Given the description of an element on the screen output the (x, y) to click on. 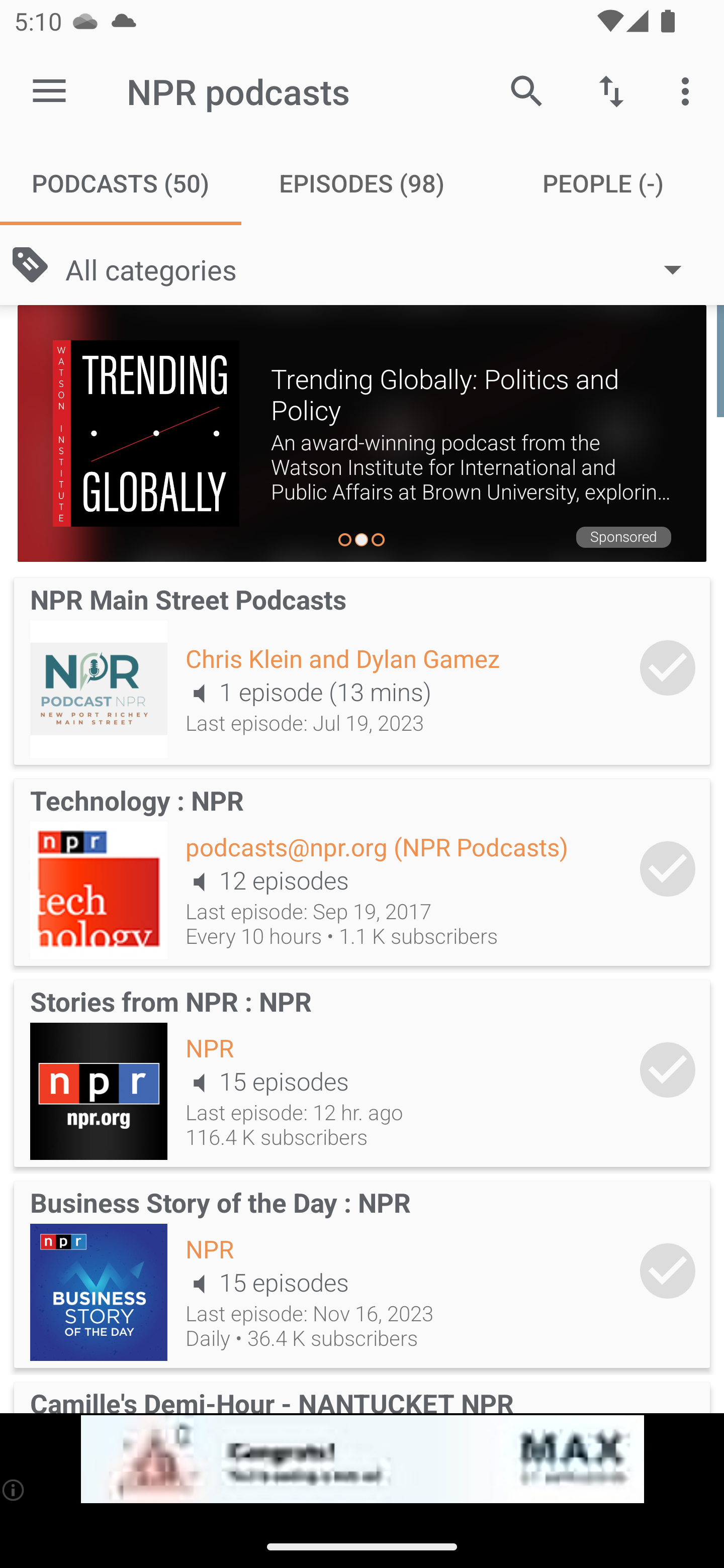
Open navigation sidebar (49, 91)
Search (526, 90)
Sort (611, 90)
More options (688, 90)
Episodes (98) EPISODES (98) (361, 183)
People (-) PEOPLE (-) (603, 183)
All categories (383, 268)
Add (667, 667)
Add (667, 868)
Add (667, 1069)
Add (667, 1271)
app-monetization (362, 1459)
(i) (14, 1489)
